Given the description of an element on the screen output the (x, y) to click on. 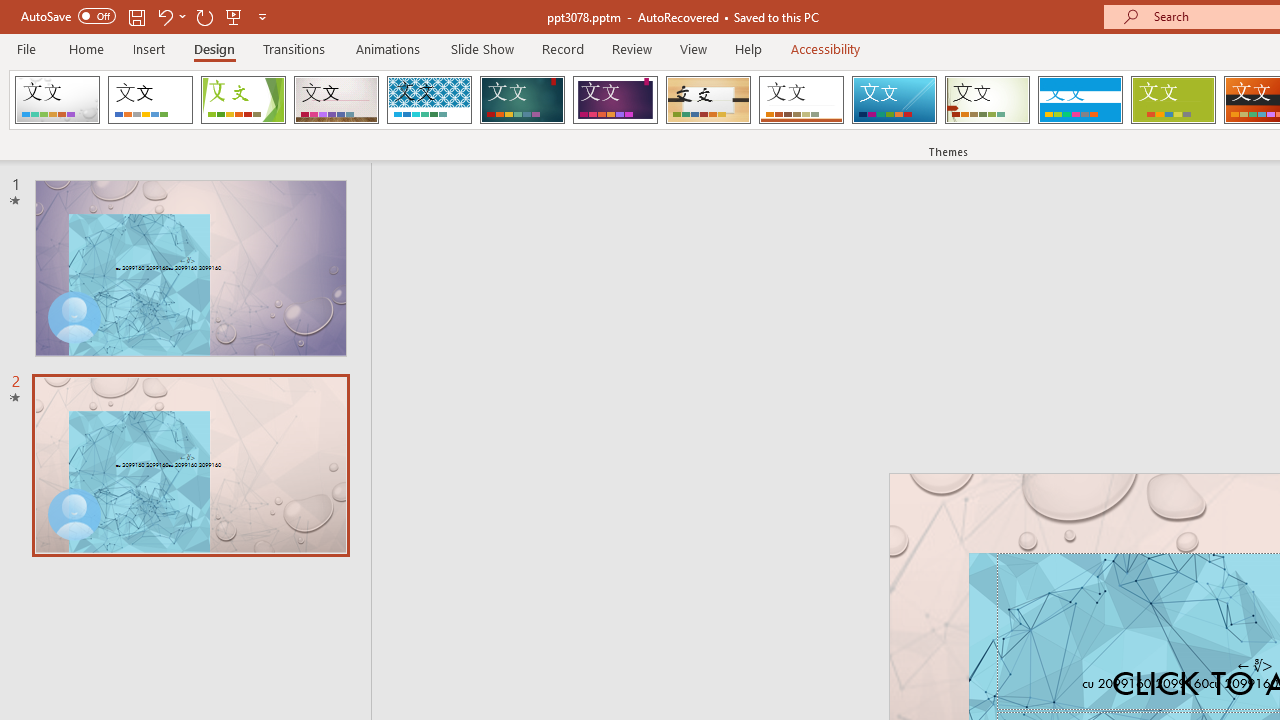
Basis (1172, 100)
Integral (429, 100)
Office Theme (150, 100)
Ion (522, 100)
